Given the description of an element on the screen output the (x, y) to click on. 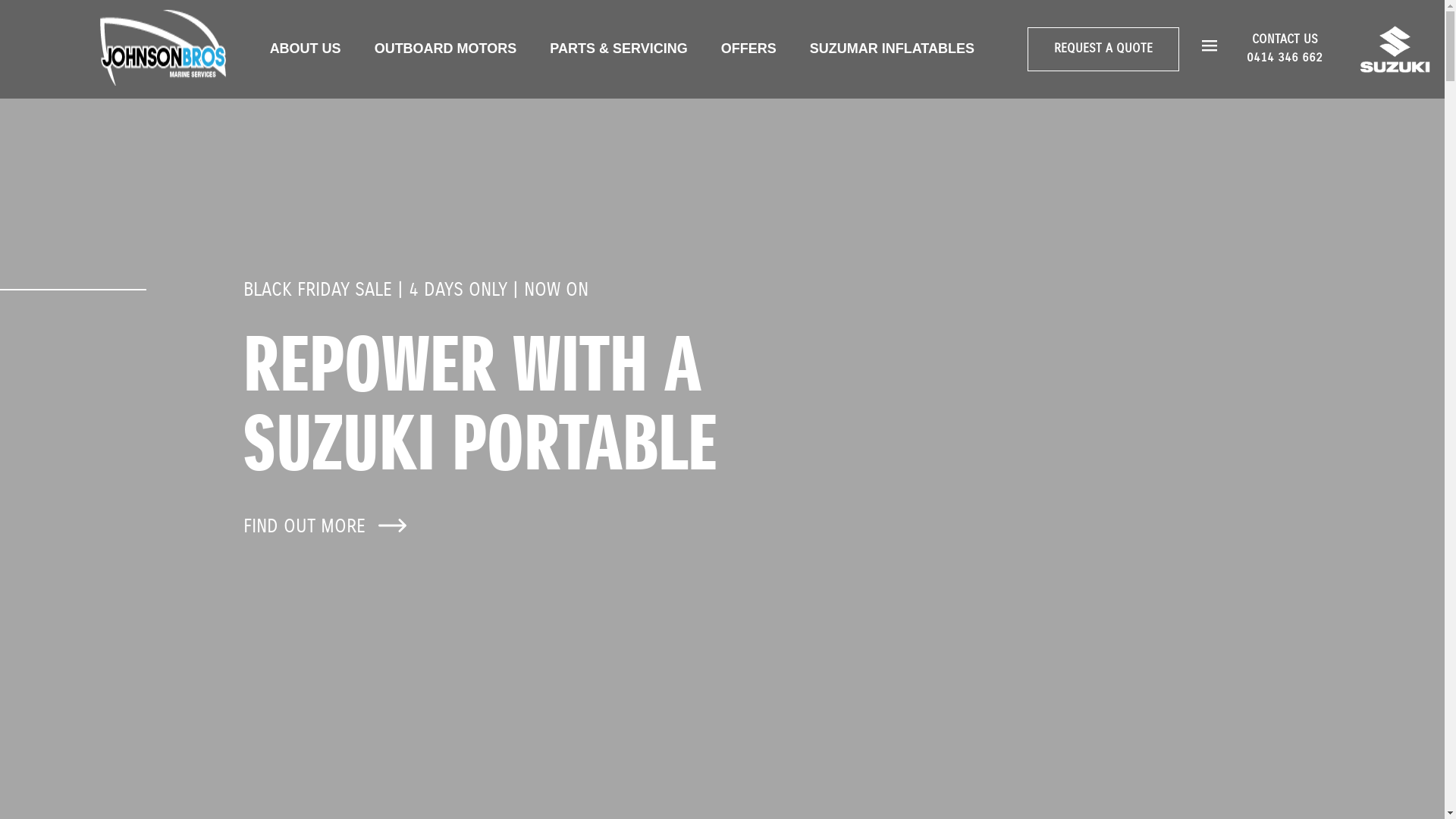
Home page Element type: hover (162, 48)
REQUEST A QUOTE Element type: text (1103, 49)
ABOUT US Element type: text (305, 48)
FIND OUT MORE Element type: text (326, 526)
OFFERS Element type: text (748, 48)
OUTBOARD MOTORS Element type: text (445, 48)
SUZUMAR INFLATABLES Element type: text (891, 48)
PARTS & SERVICING Element type: text (618, 48)
0414 346 662 Element type: text (1284, 58)
CONTACT US Element type: text (1284, 39)
